Given the description of an element on the screen output the (x, y) to click on. 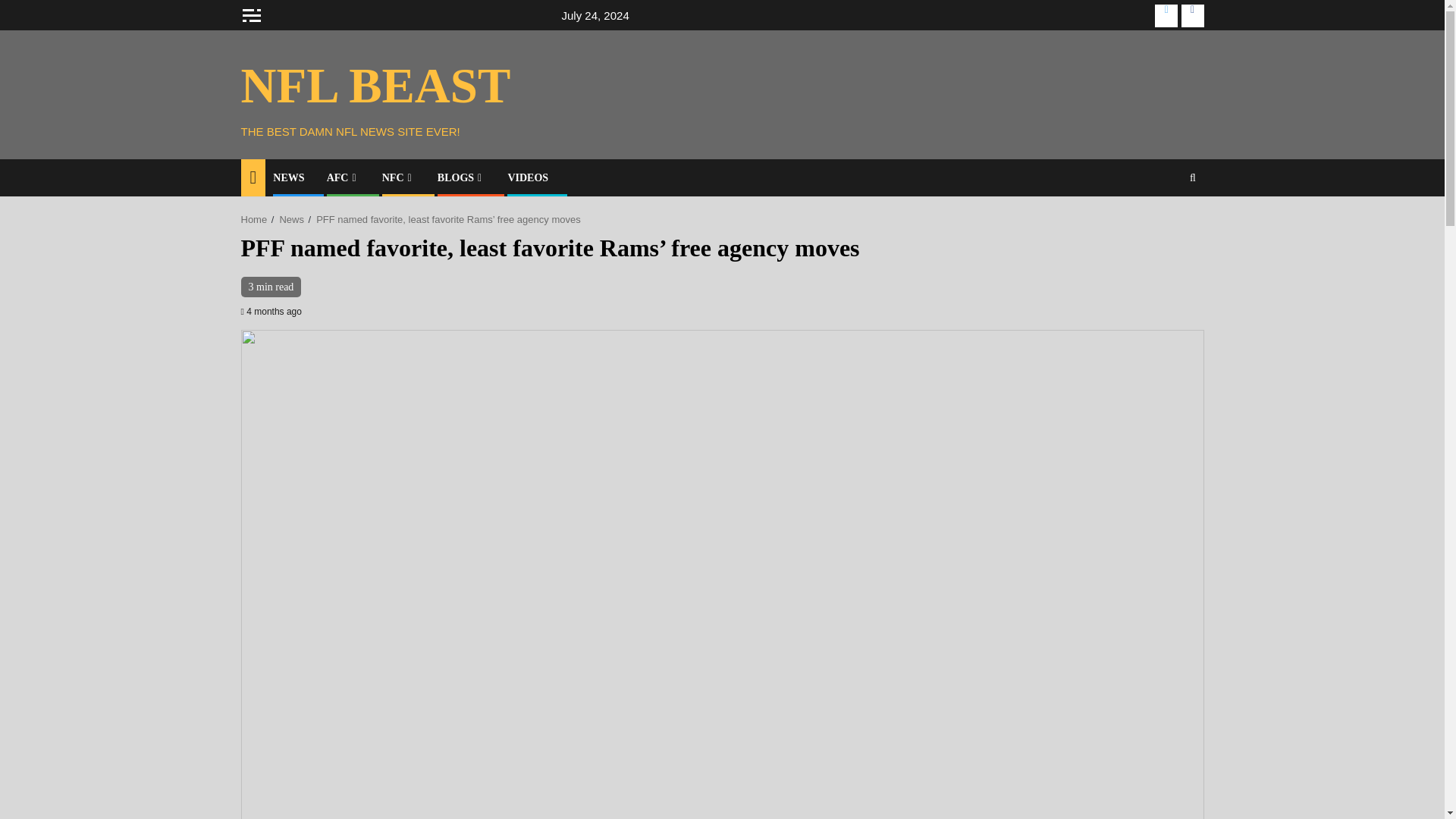
Search (1192, 177)
Twitter (1165, 15)
Facebook (1192, 15)
NFL BEAST (376, 85)
